Given the description of an element on the screen output the (x, y) to click on. 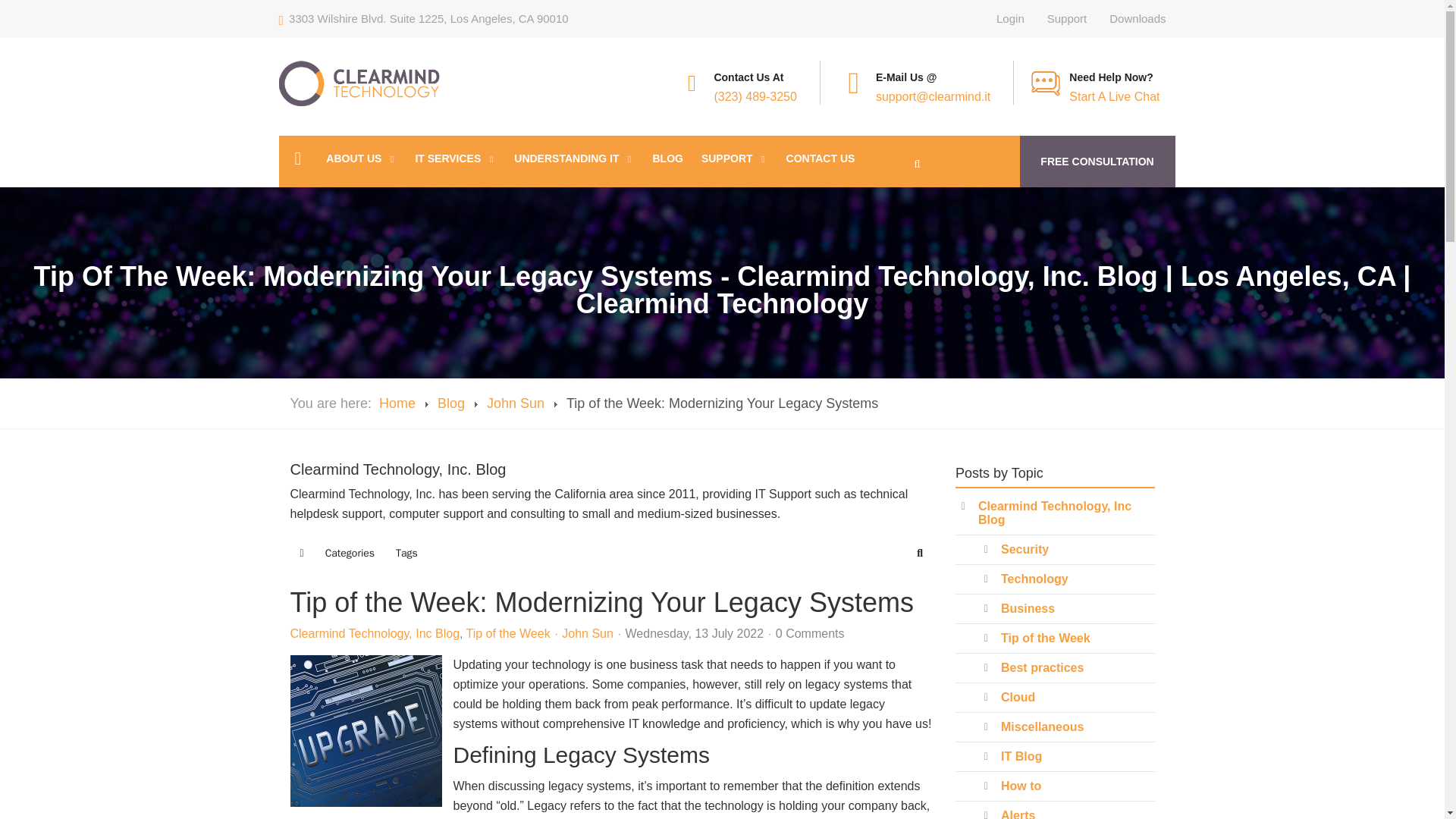
Clearmind Technology (360, 83)
Tags (406, 553)
Categories (349, 553)
Tip of the Week: Modernizing Your Legacy Systems (365, 730)
